Given the description of an element on the screen output the (x, y) to click on. 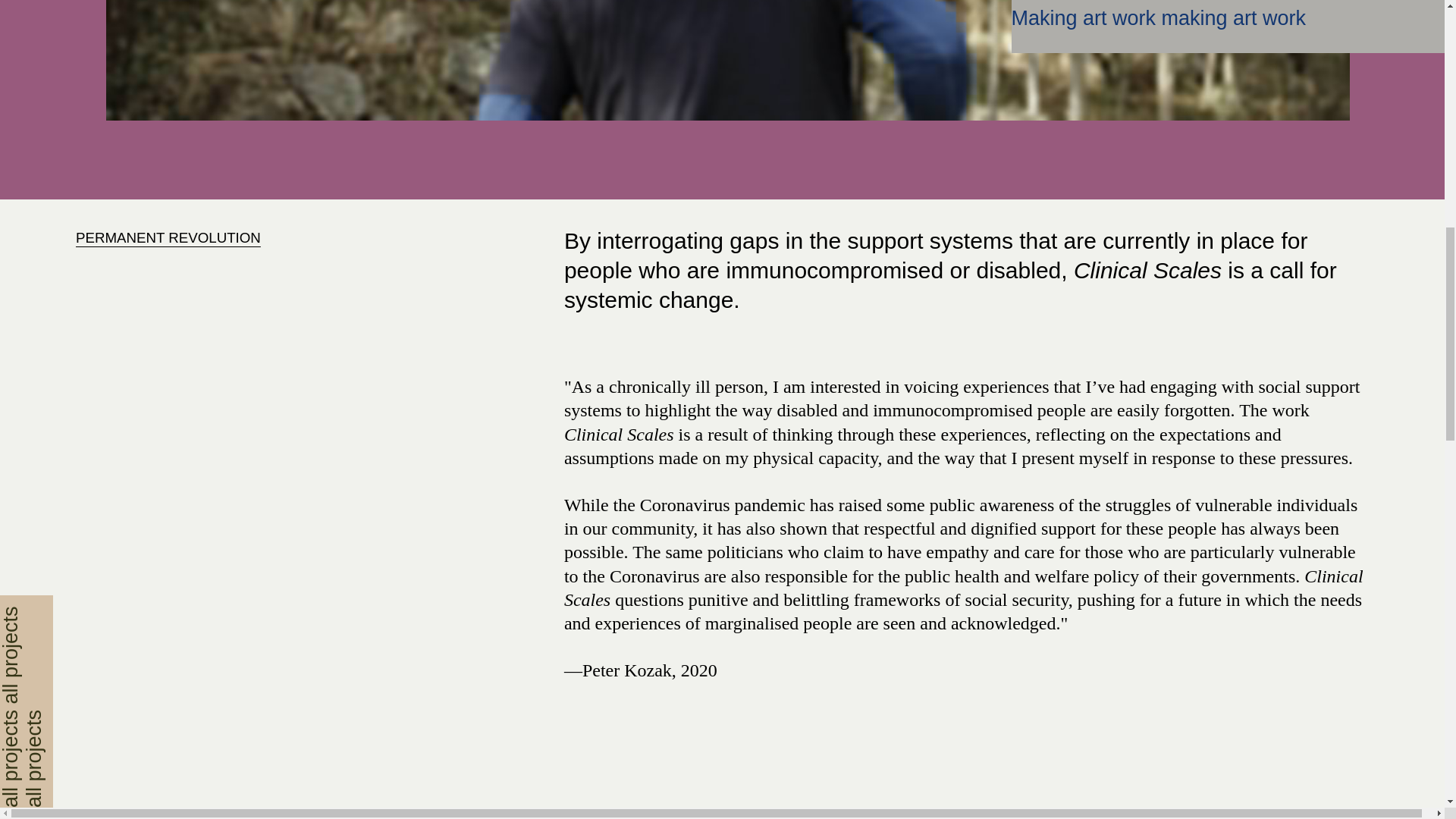
PERMANENT REVOLUTION (167, 237)
